Given the description of an element on the screen output the (x, y) to click on. 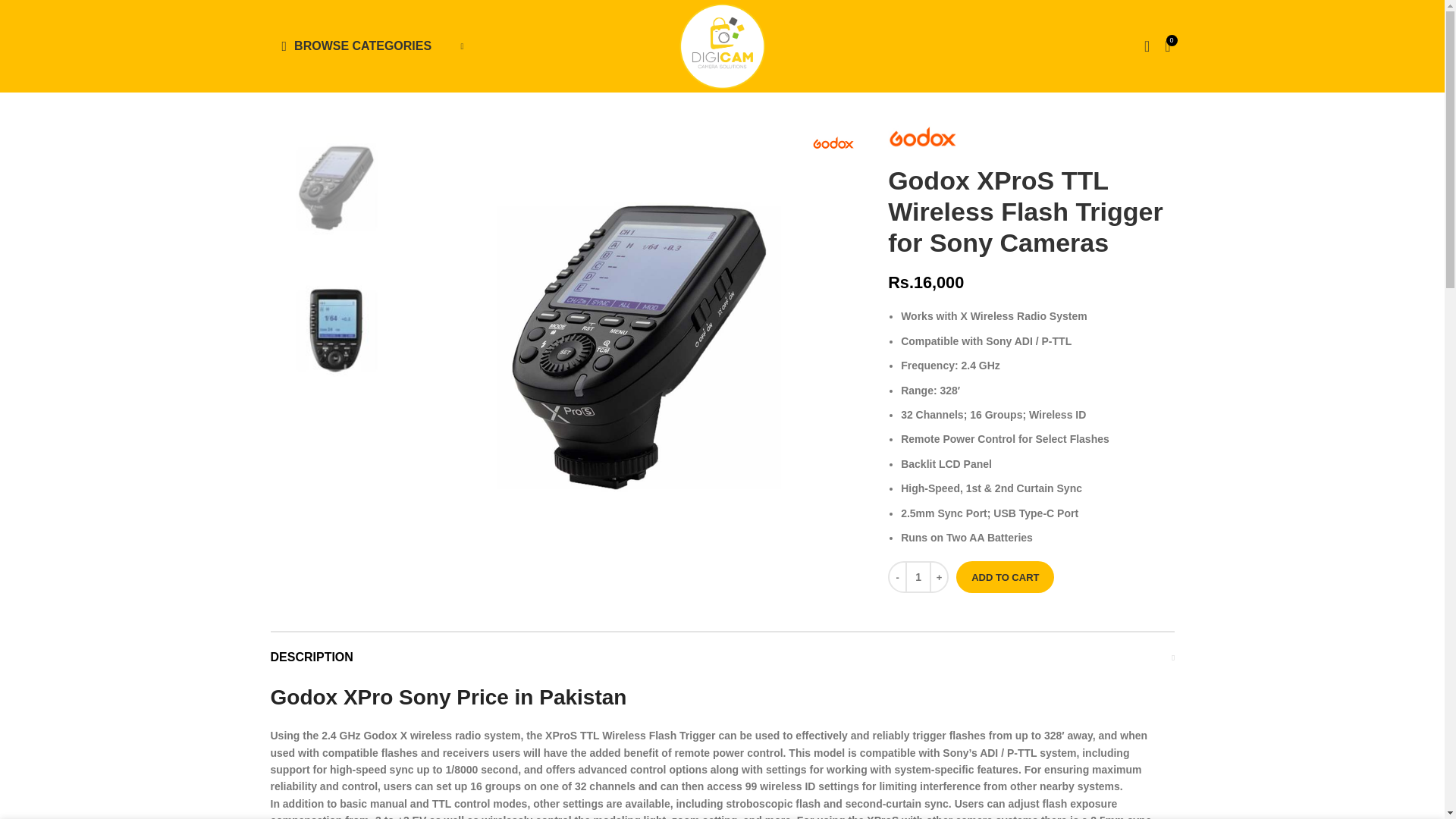
Godox (922, 135)
Log in (1024, 287)
godox (832, 142)
